Given the description of an element on the screen output the (x, y) to click on. 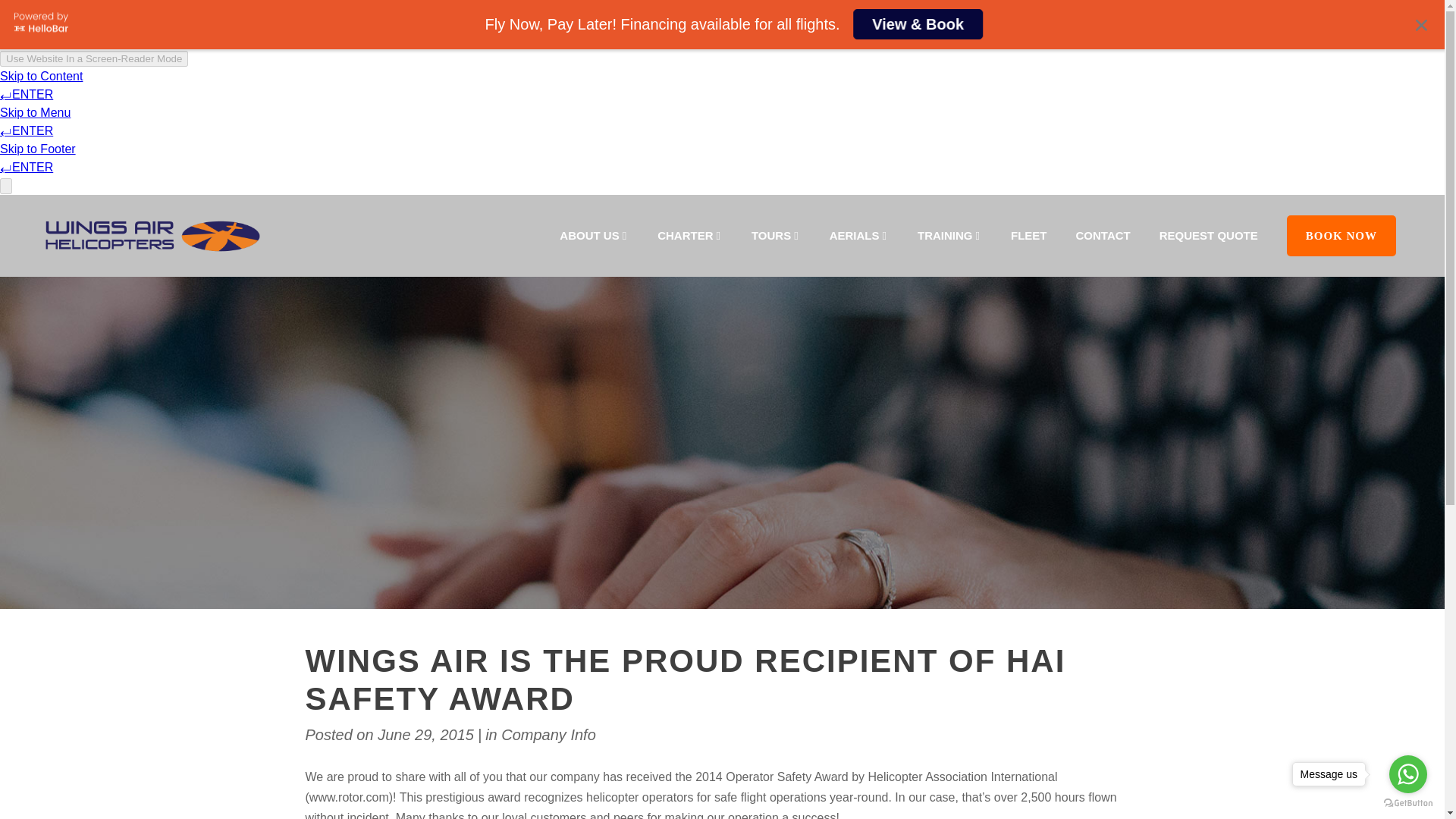
REQUEST QUOTE (1208, 235)
CHARTER (689, 235)
TRAINING (948, 235)
AERIALS (858, 235)
TOURS (775, 235)
CONTACT (1102, 235)
BOOK NOW (1341, 235)
ABOUT US (593, 235)
